Given the description of an element on the screen output the (x, y) to click on. 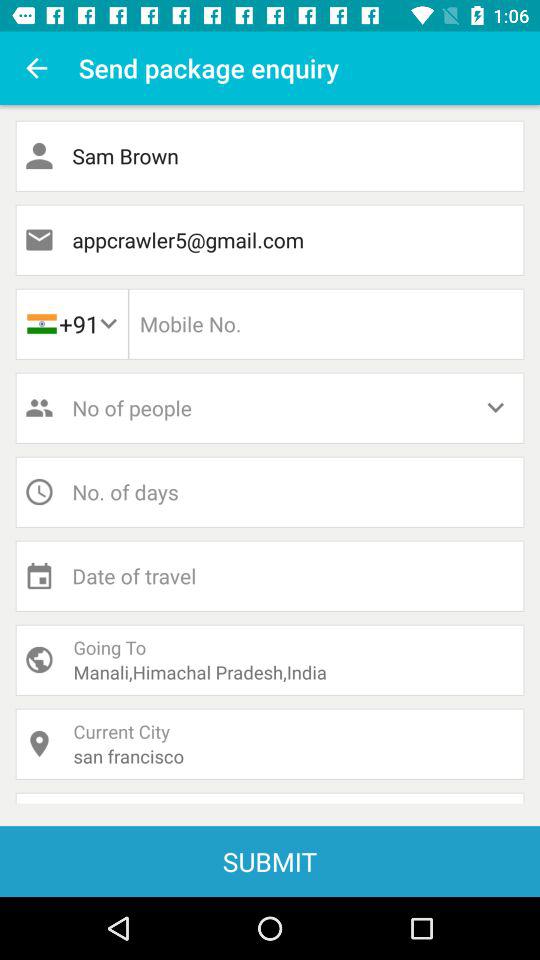
write the number of days (269, 491)
